Given the description of an element on the screen output the (x, y) to click on. 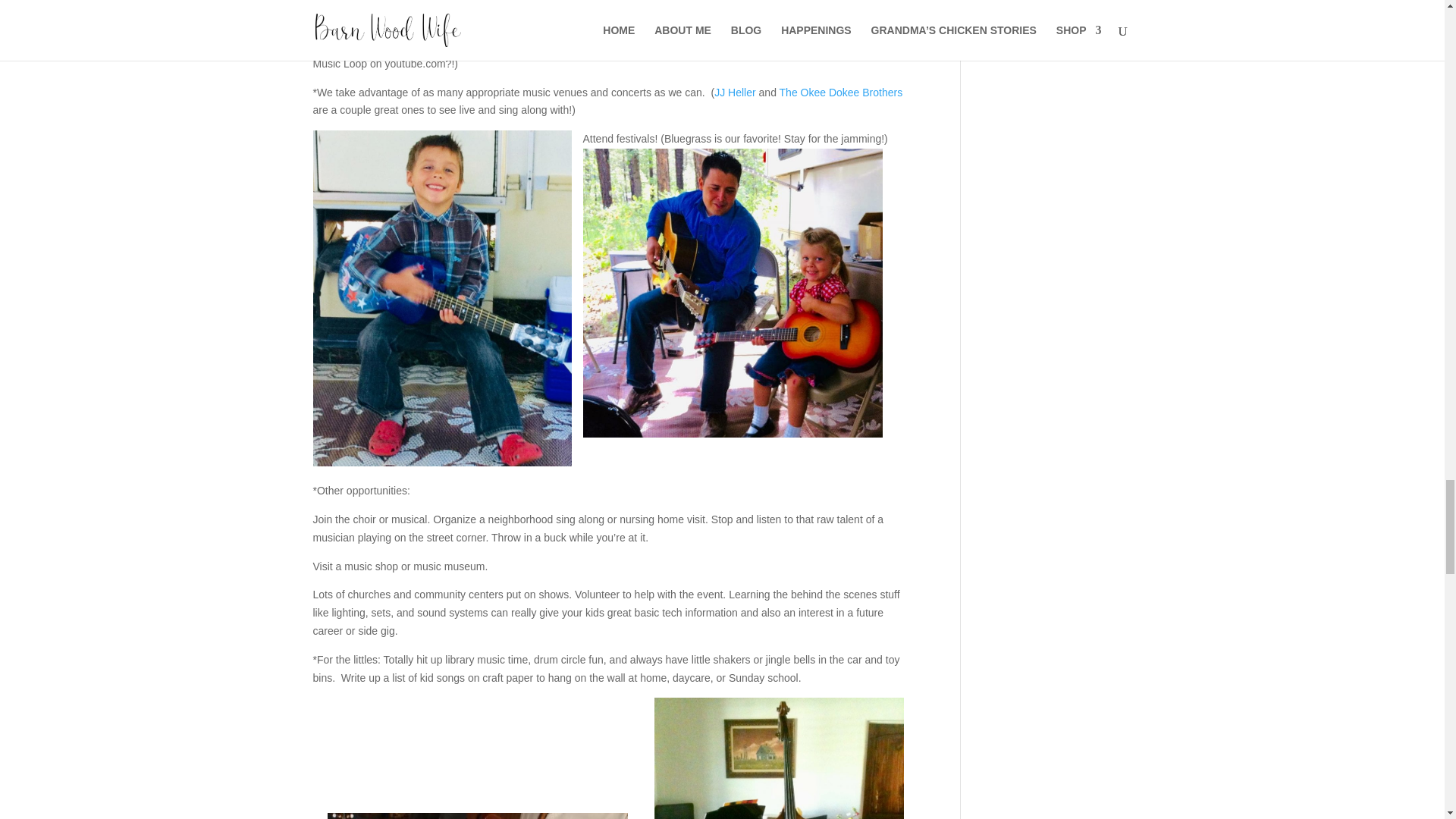
The Okee Dokee Brothers (840, 92)
www.freepianolessons4kids.com (638, 2)
JJ Heller (734, 92)
